Given the description of an element on the screen output the (x, y) to click on. 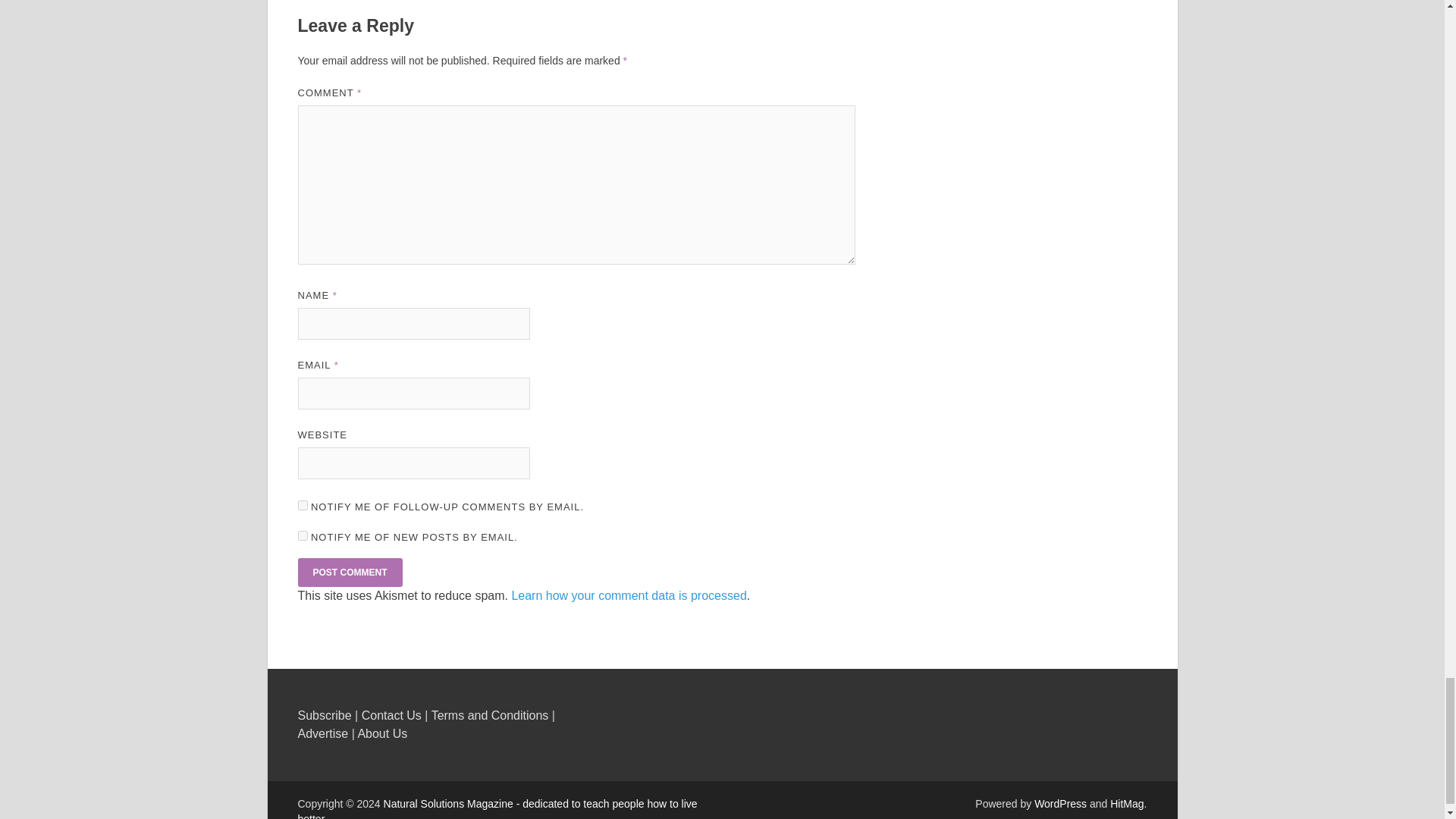
subscribe (302, 535)
HitMag WordPress Theme (1125, 803)
WordPress (1059, 803)
Post Comment (349, 572)
subscribe (302, 505)
